Given the description of an element on the screen output the (x, y) to click on. 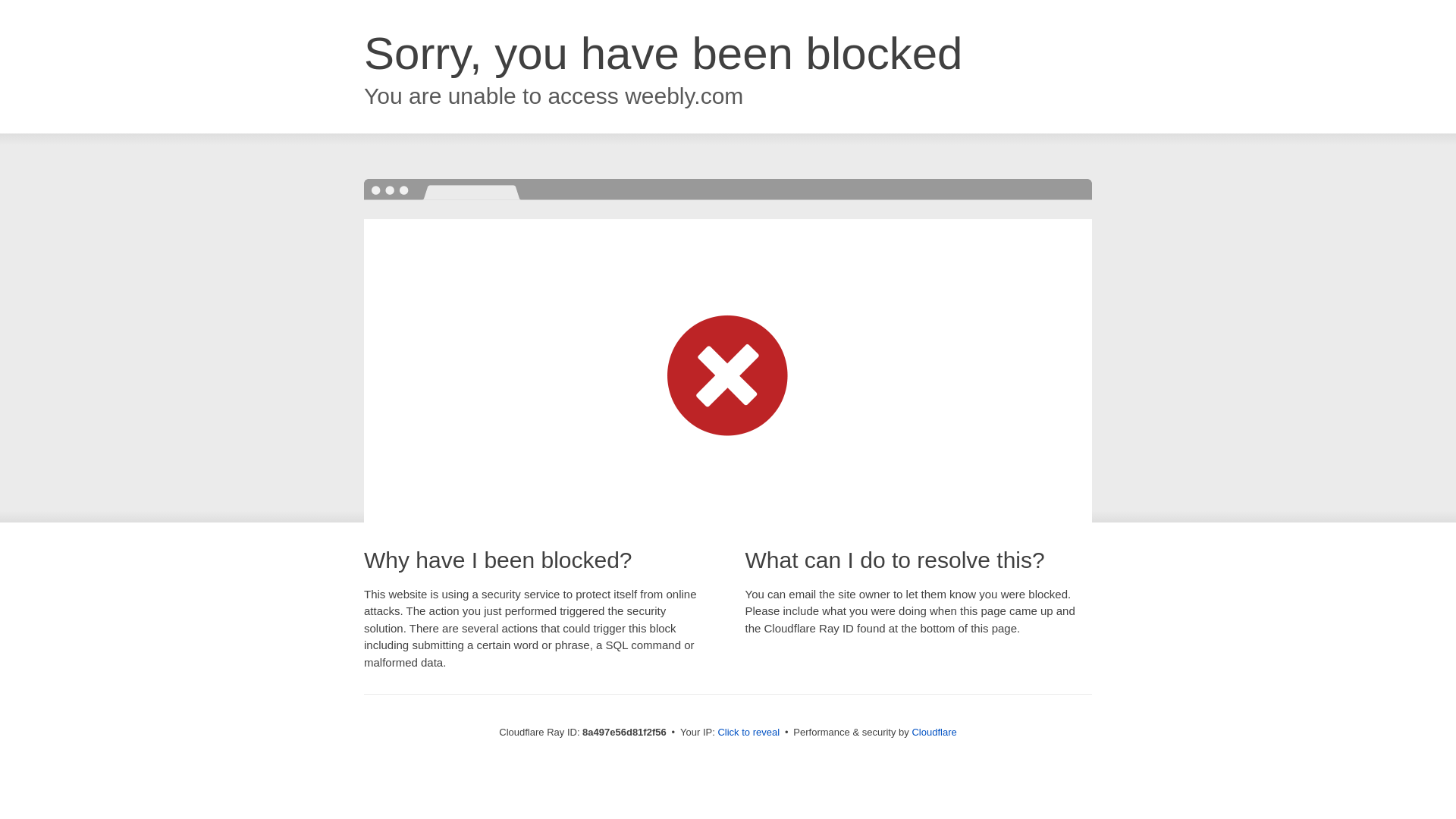
Click to reveal (747, 732)
Cloudflare (933, 731)
